Given the description of an element on the screen output the (x, y) to click on. 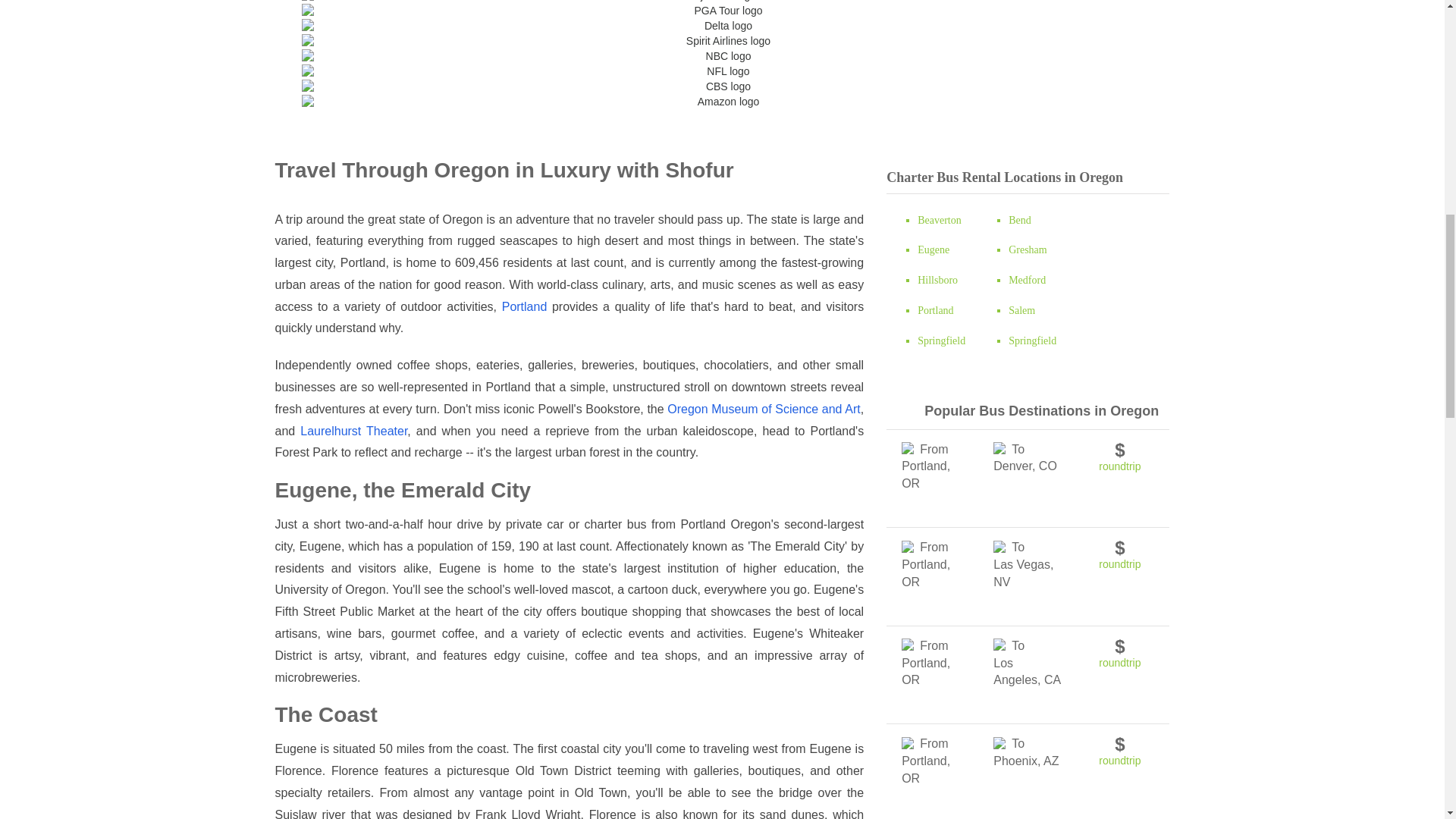
Portland (524, 306)
Springfield (941, 340)
Gresham (1027, 249)
Beaverton (938, 219)
Salem (1022, 310)
Eugene (933, 249)
Springfield (1033, 340)
Bend (1019, 219)
Laurelhurst Theater (353, 431)
Hillsboro (937, 279)
